Given the description of an element on the screen output the (x, y) to click on. 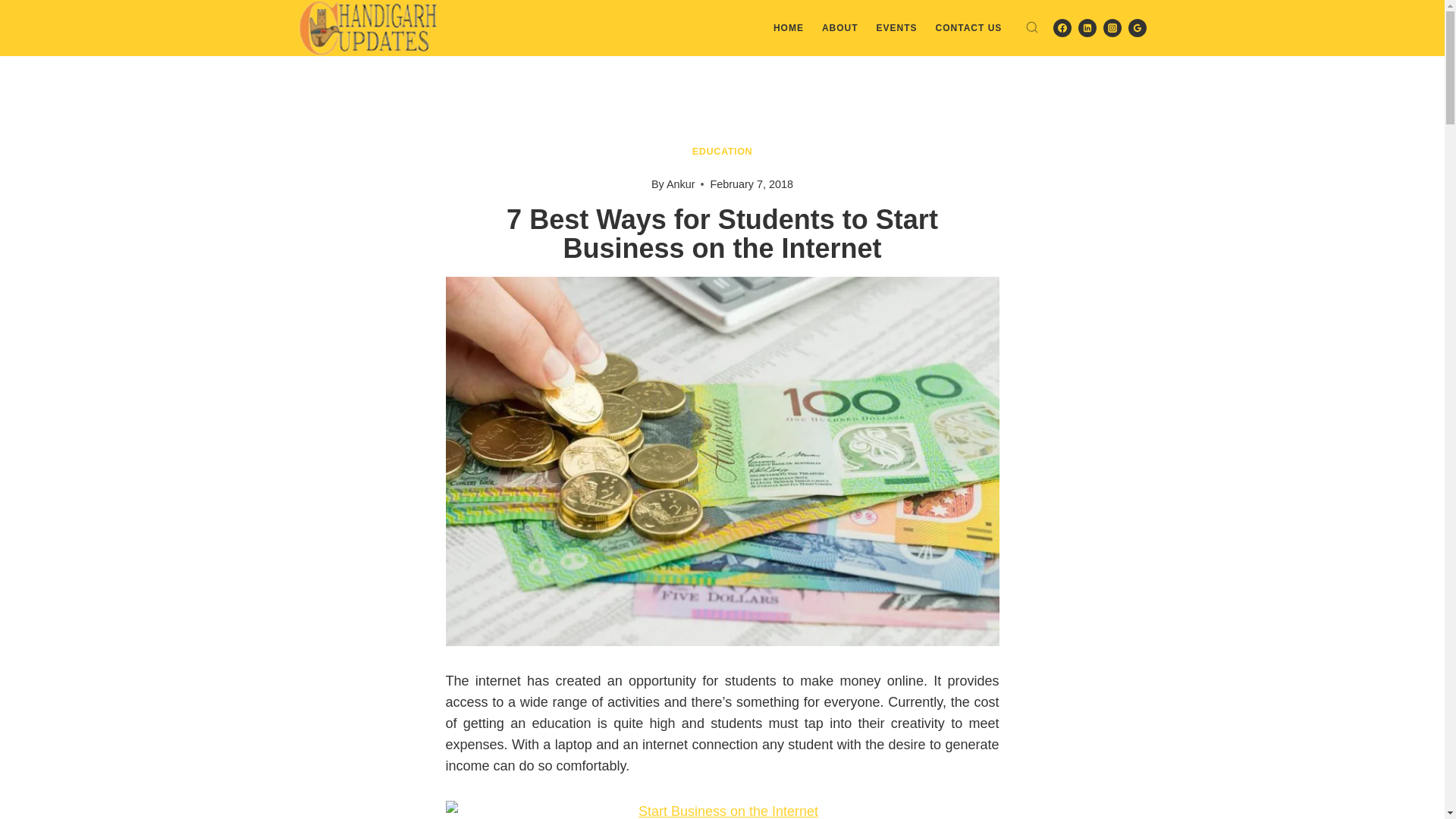
HOME (788, 27)
EDUCATION (722, 151)
CONTACT US (968, 27)
Start Business on the Internet (721, 809)
ABOUT (839, 27)
EVENTS (896, 27)
Ankur (680, 184)
